Given the description of an element on the screen output the (x, y) to click on. 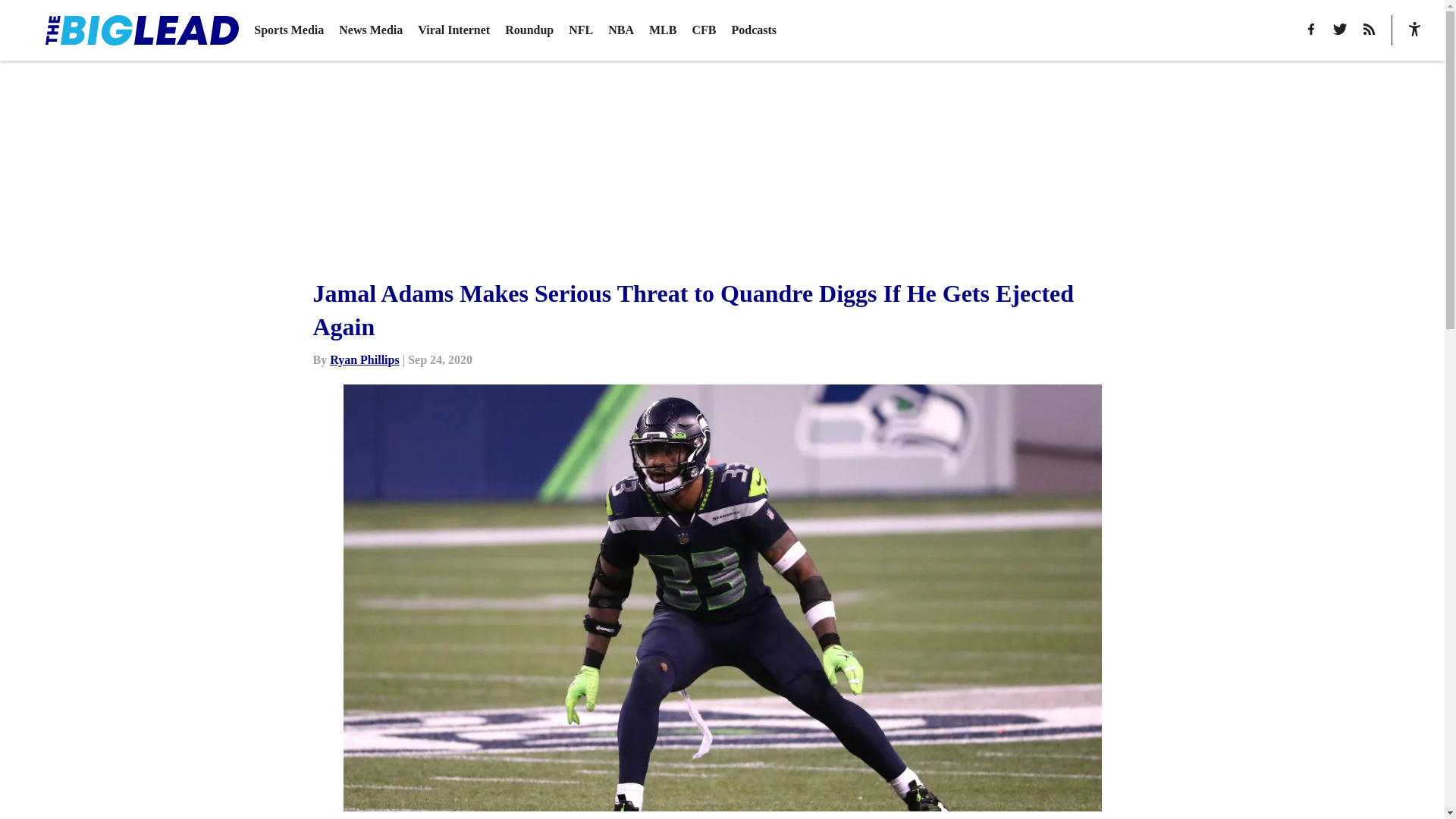
Roundup (529, 30)
Sports Media (288, 30)
MLB (663, 30)
Podcasts (753, 30)
News Media (371, 30)
NFL (580, 30)
Viral Internet (453, 30)
Ryan Phillips (364, 359)
NBA (620, 30)
CFB (703, 30)
